Given the description of an element on the screen output the (x, y) to click on. 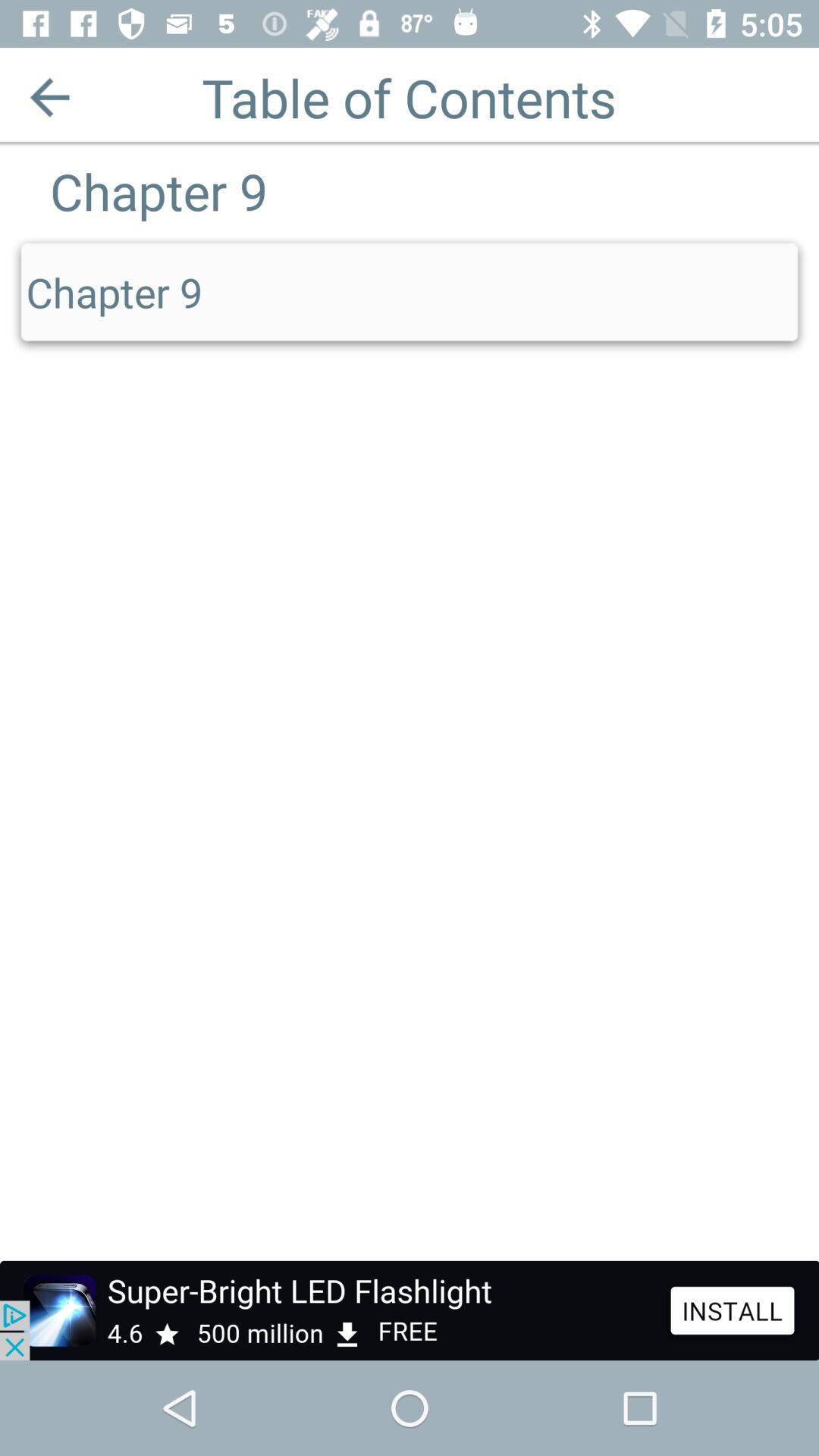
advertisement (409, 1310)
